Given the description of an element on the screen output the (x, y) to click on. 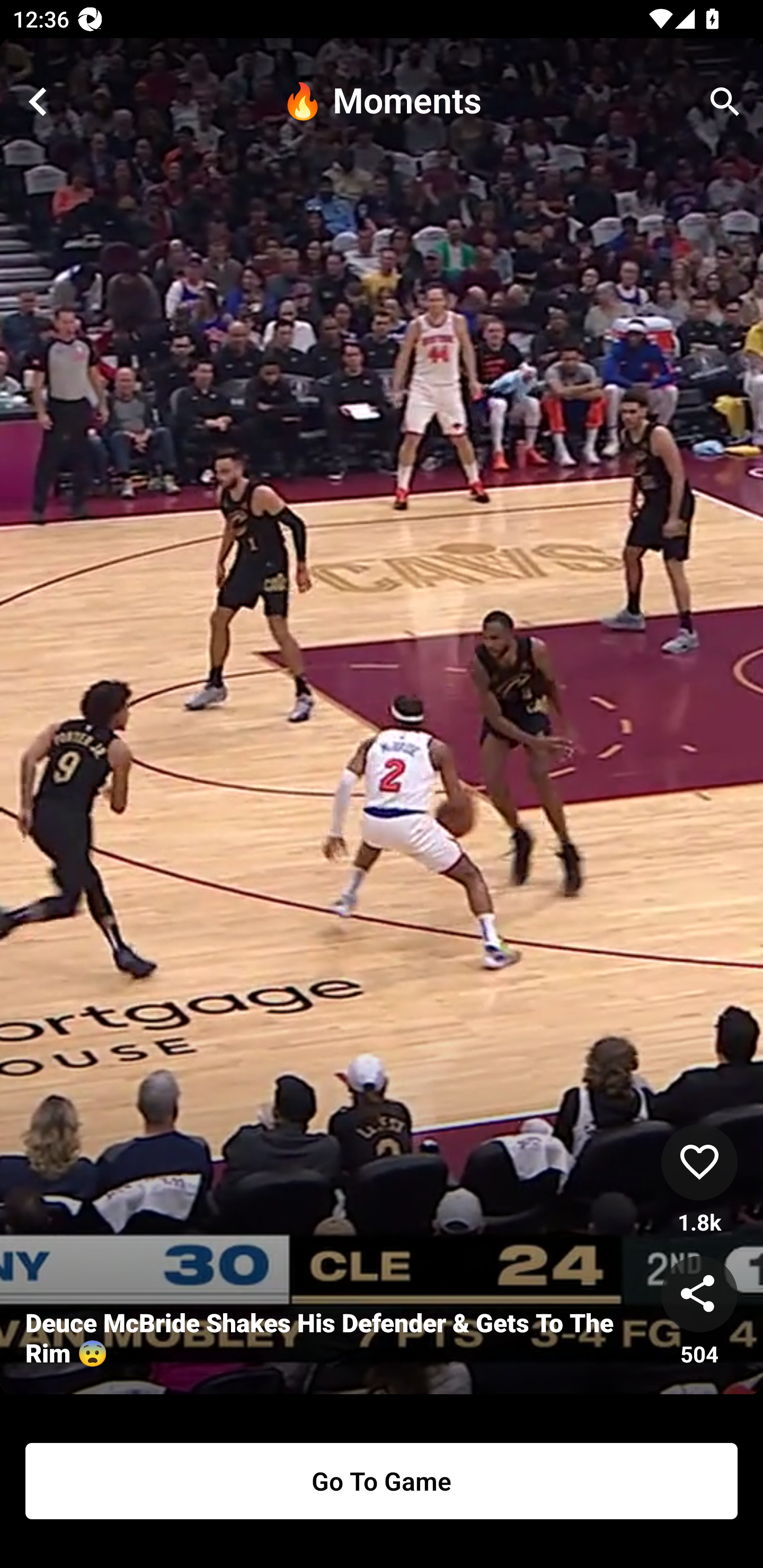
close (38, 101)
search (724, 101)
like 1.8k 1833 Likes (699, 1180)
share 504 504 Shares (699, 1311)
Go To Game (381, 1480)
